Given the description of an element on the screen output the (x, y) to click on. 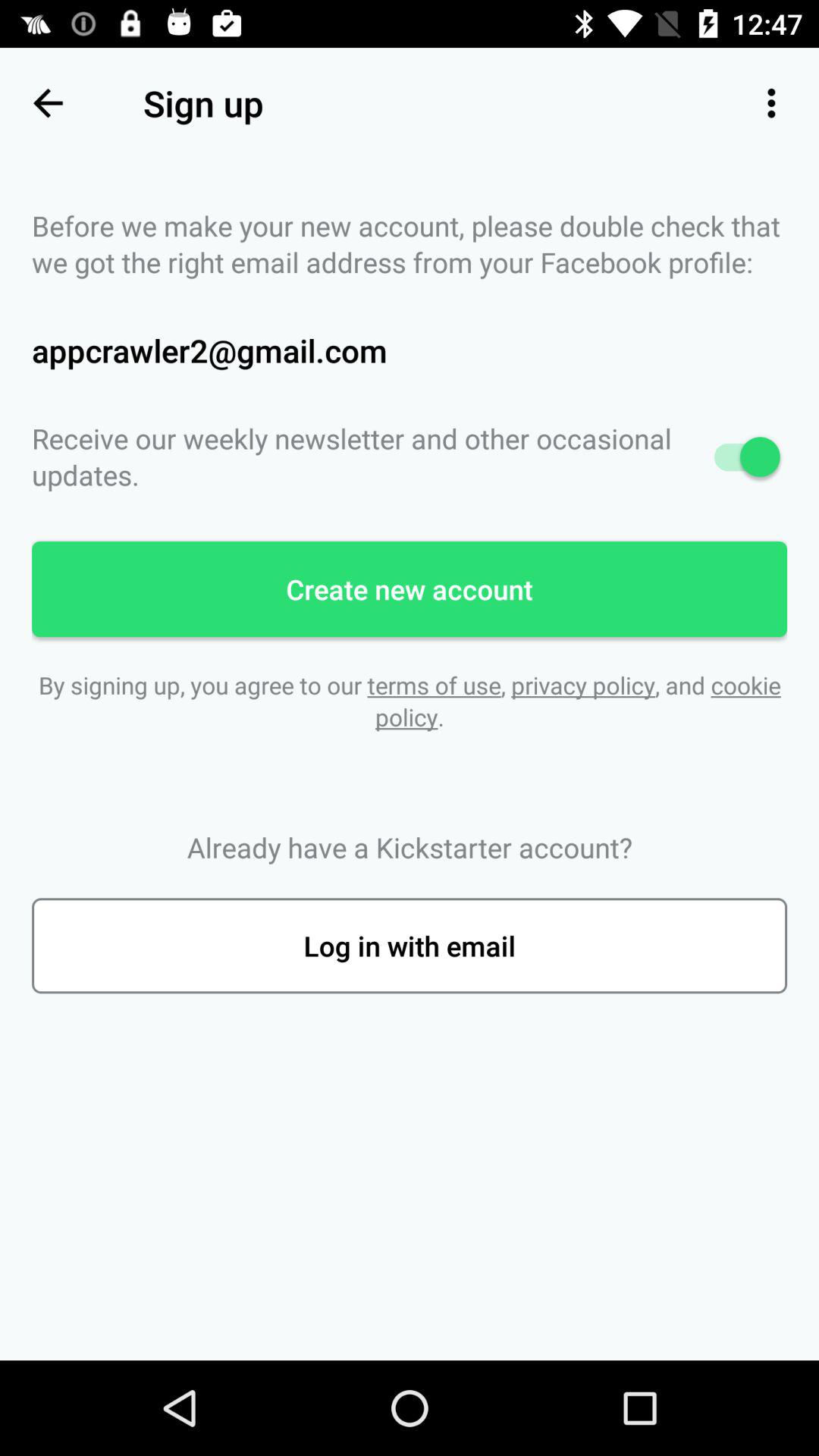
press icon below appcrawler2@gmail.com icon (409, 456)
